Given the description of an element on the screen output the (x, y) to click on. 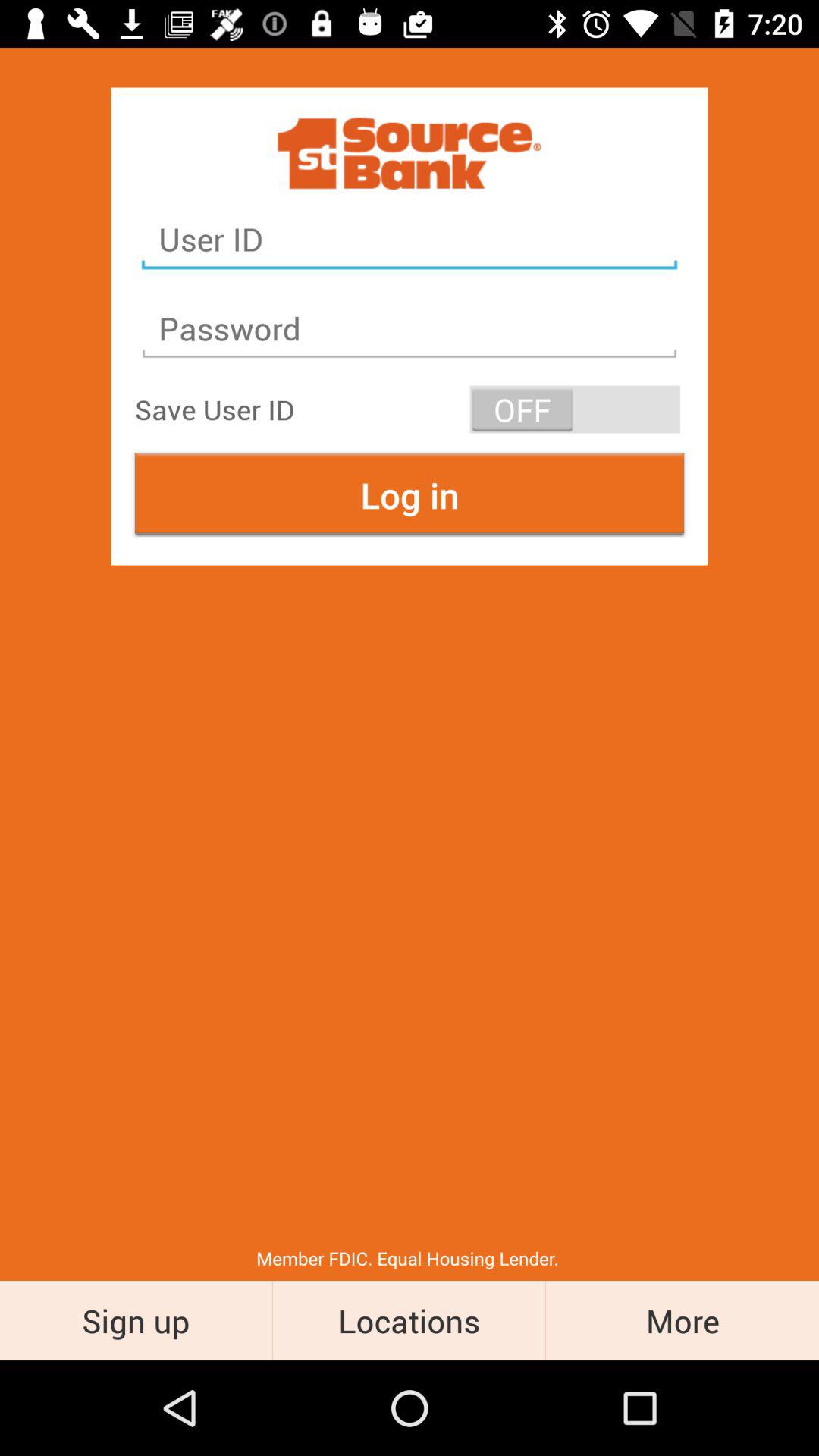
choose the log in icon (409, 494)
